Given the description of an element on the screen output the (x, y) to click on. 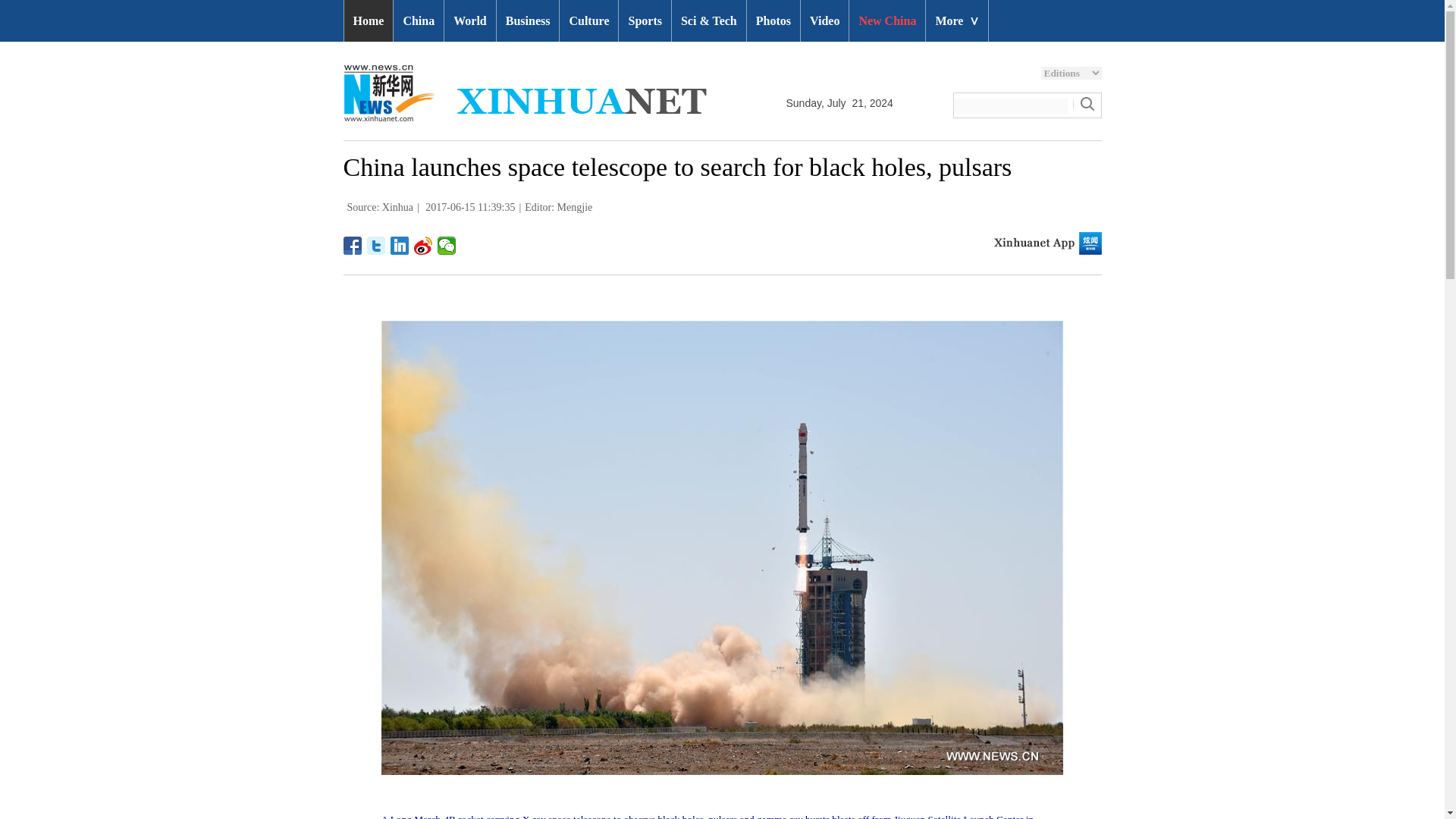
Video (824, 20)
Photos (772, 20)
Home (368, 20)
Culture (588, 20)
New China (886, 20)
China (418, 20)
Sports (643, 20)
World (470, 20)
Business (527, 20)
